Given the description of an element on the screen output the (x, y) to click on. 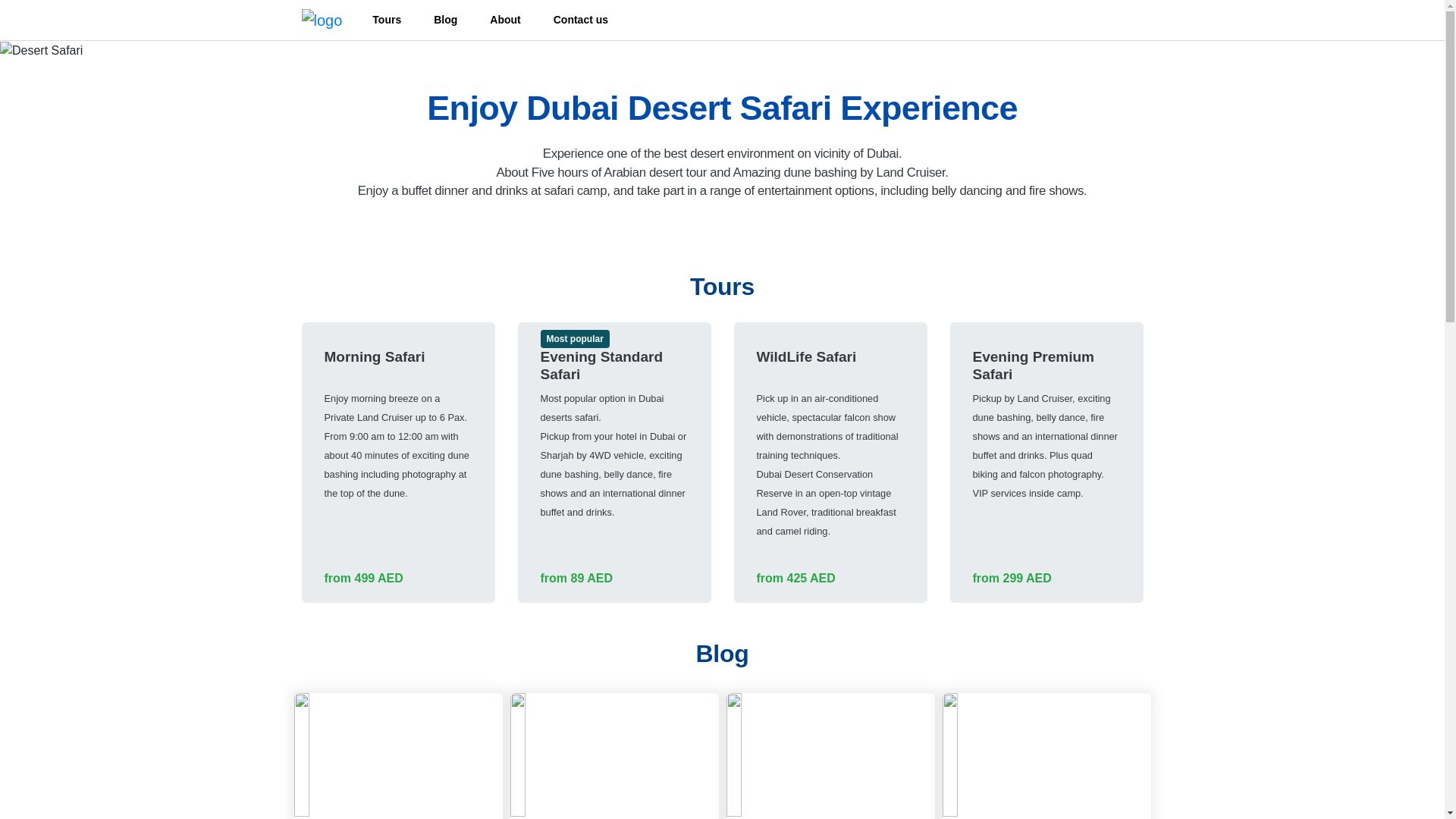
dubaisafari.org (321, 20)
dubaisafari.org (41, 50)
Tours (397, 19)
Blog (455, 19)
About (515, 19)
Contact us (590, 19)
